Given the description of an element on the screen output the (x, y) to click on. 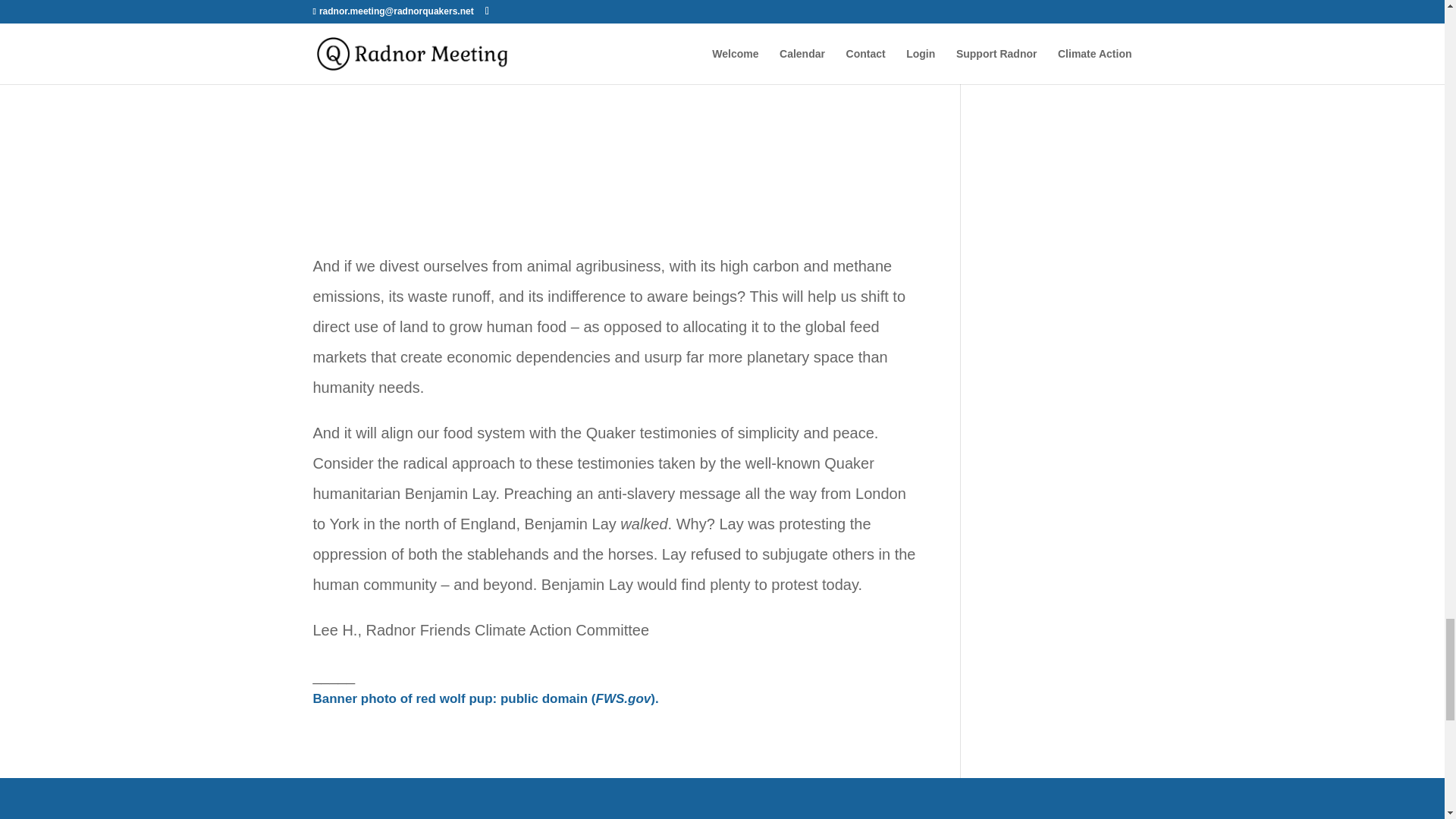
FWS.gov (622, 698)
